Given the description of an element on the screen output the (x, y) to click on. 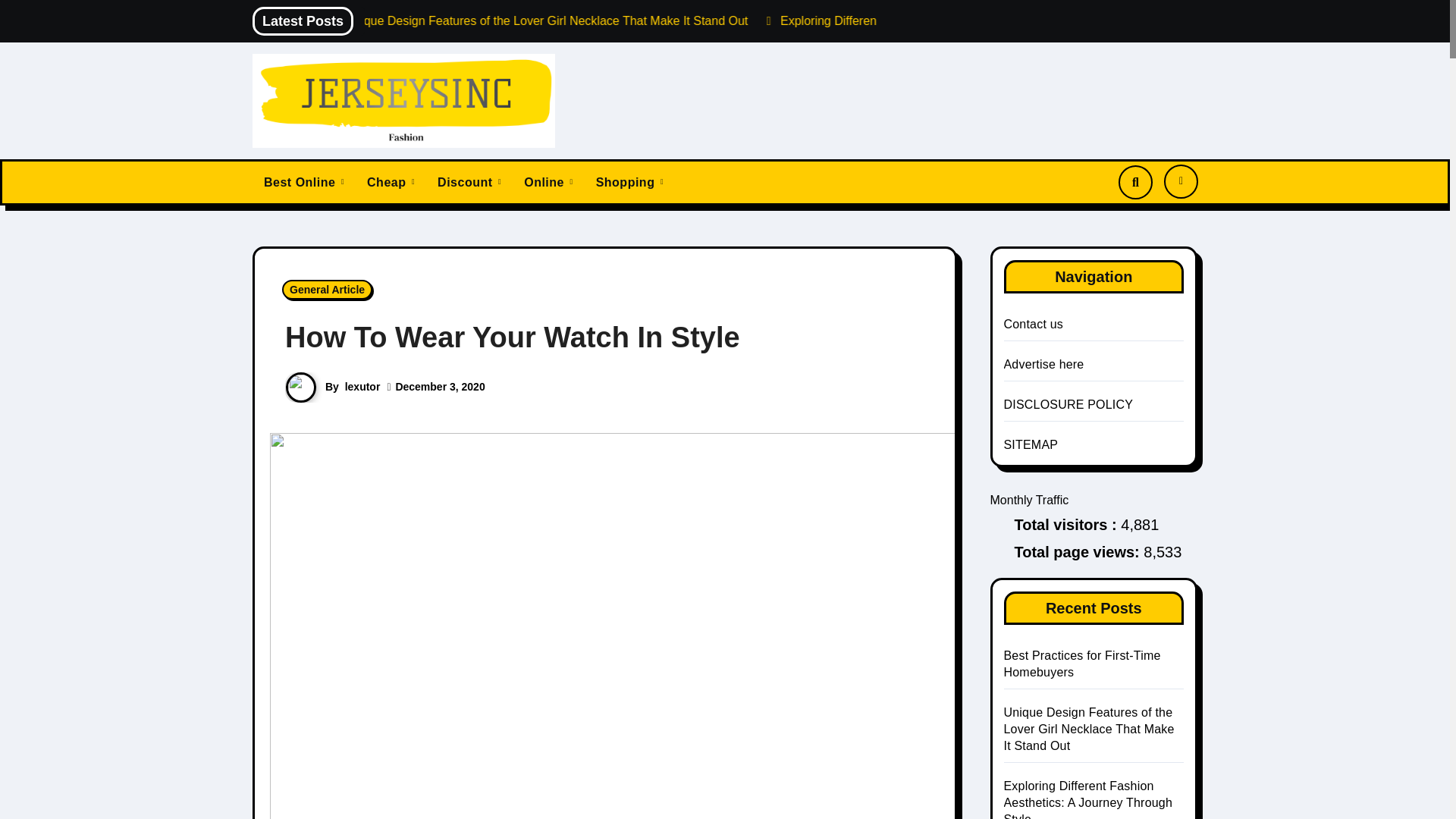
Online (547, 182)
Shopping (630, 182)
Best Online (303, 182)
Discount (469, 182)
Best Practices for First-Time Homebuyers (376, 20)
Cheap (390, 182)
Online (547, 182)
Best Online (303, 182)
Discount (469, 182)
